Given the description of an element on the screen output the (x, y) to click on. 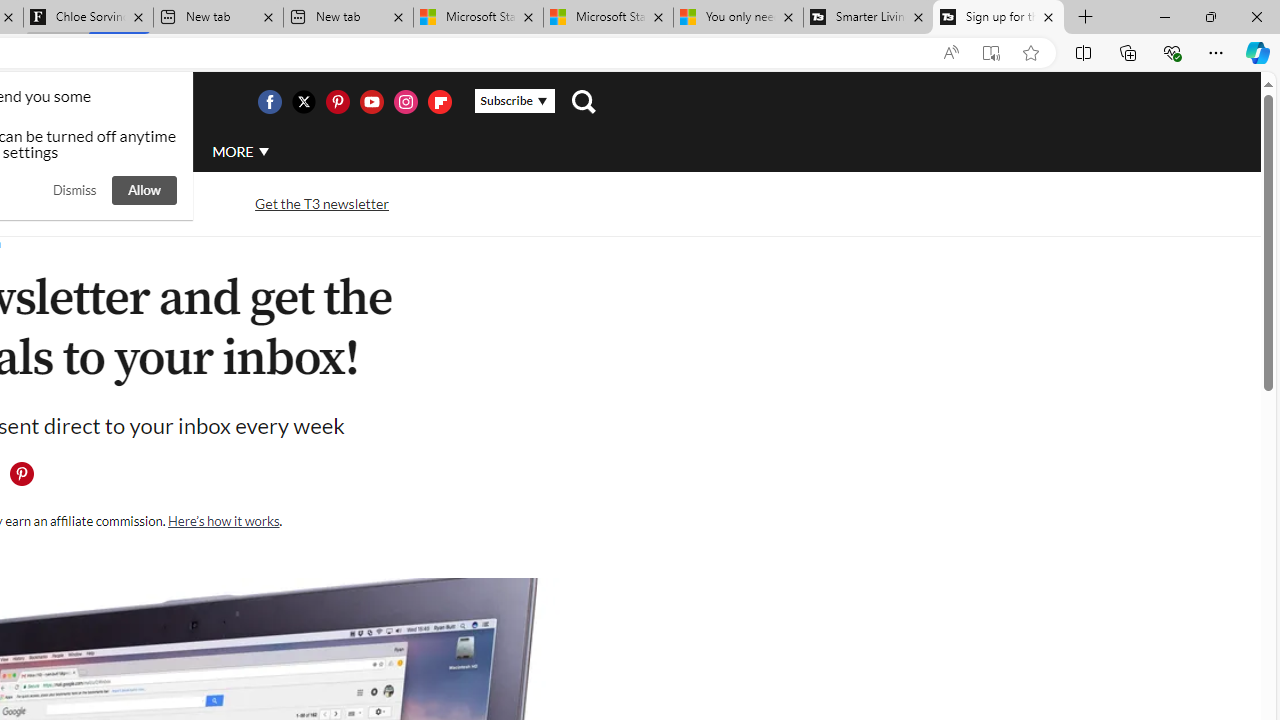
LUXURY (66, 151)
Allow (144, 190)
Visit us on Youtube (371, 101)
AUTO (153, 151)
Subscribe (514, 101)
Smarter Living | T3 (868, 17)
Enter Immersive Reader (F9) (991, 53)
Dismiss (73, 190)
Visit us on Twitter (303, 101)
flag of UK (44, 102)
